Given the description of an element on the screen output the (x, y) to click on. 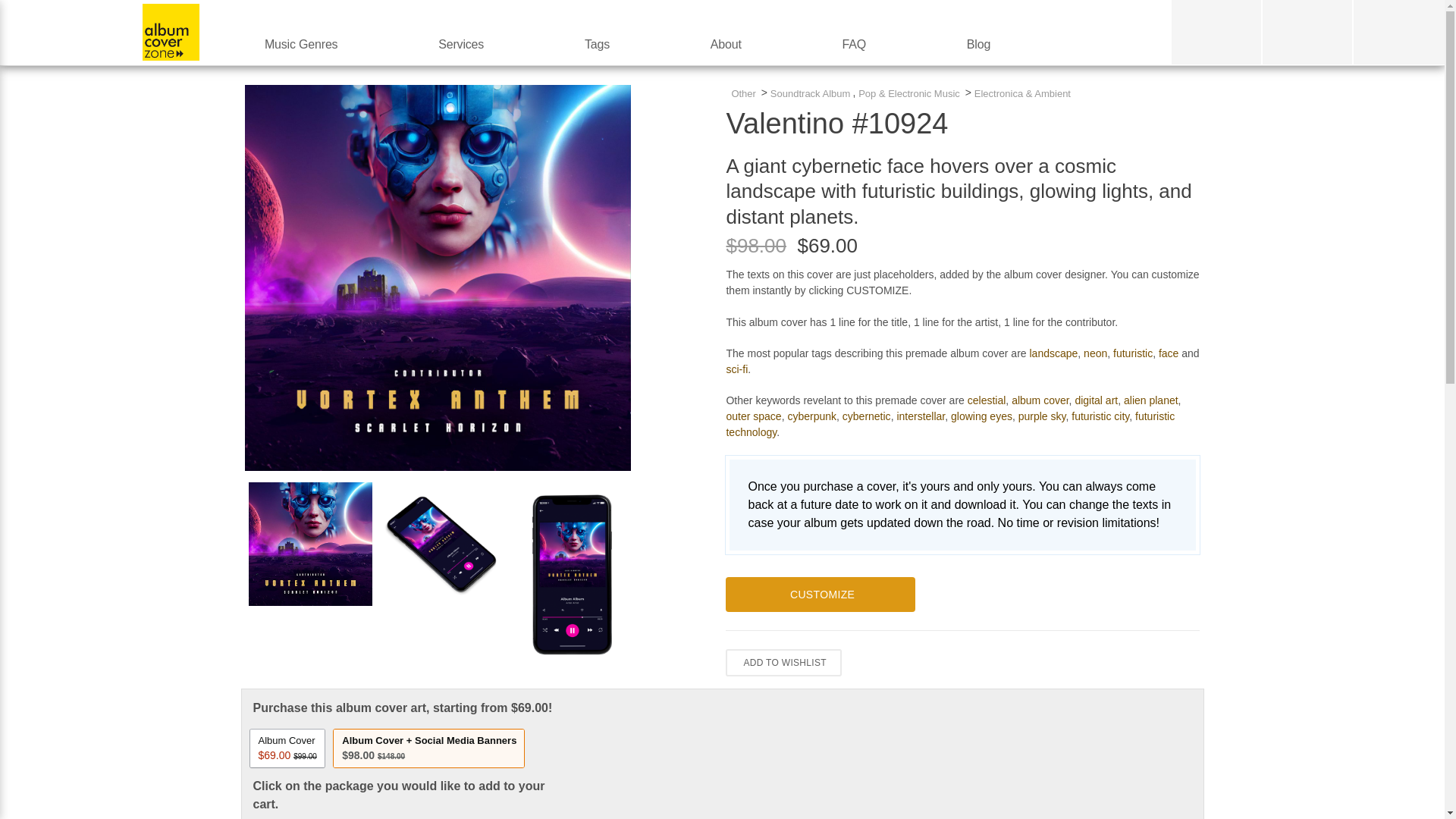
About (725, 44)
Music Genres (300, 44)
FAQ (853, 44)
Blog (978, 44)
Tags (597, 44)
Services (461, 44)
